Given the description of an element on the screen output the (x, y) to click on. 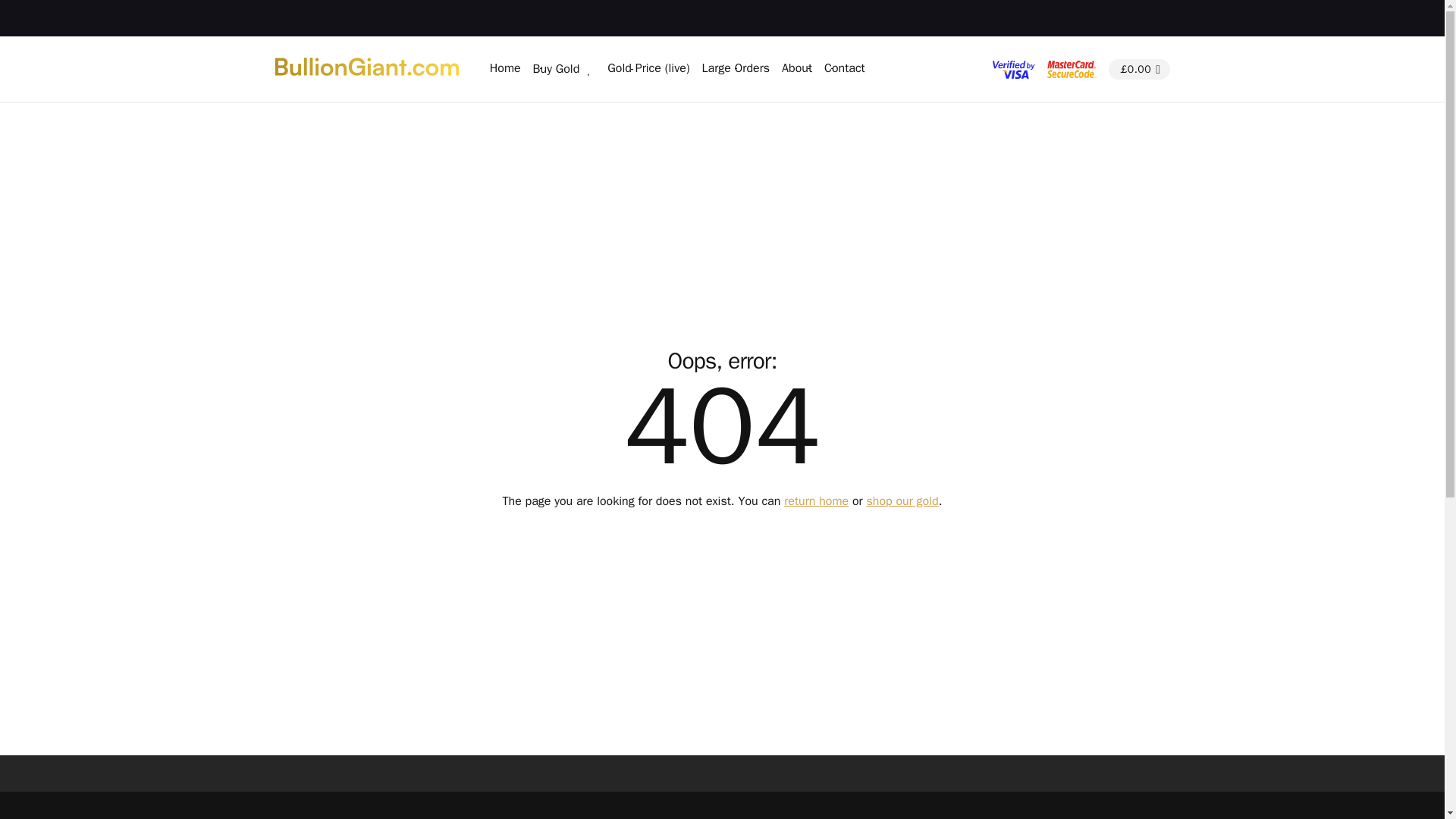
Customer reviews powered by Trustpilot (1055, 17)
Customer reviews powered by Trustpilot (721, 773)
Buy Gold (555, 68)
Large Orders (735, 68)
Home (505, 68)
